Given the description of an element on the screen output the (x, y) to click on. 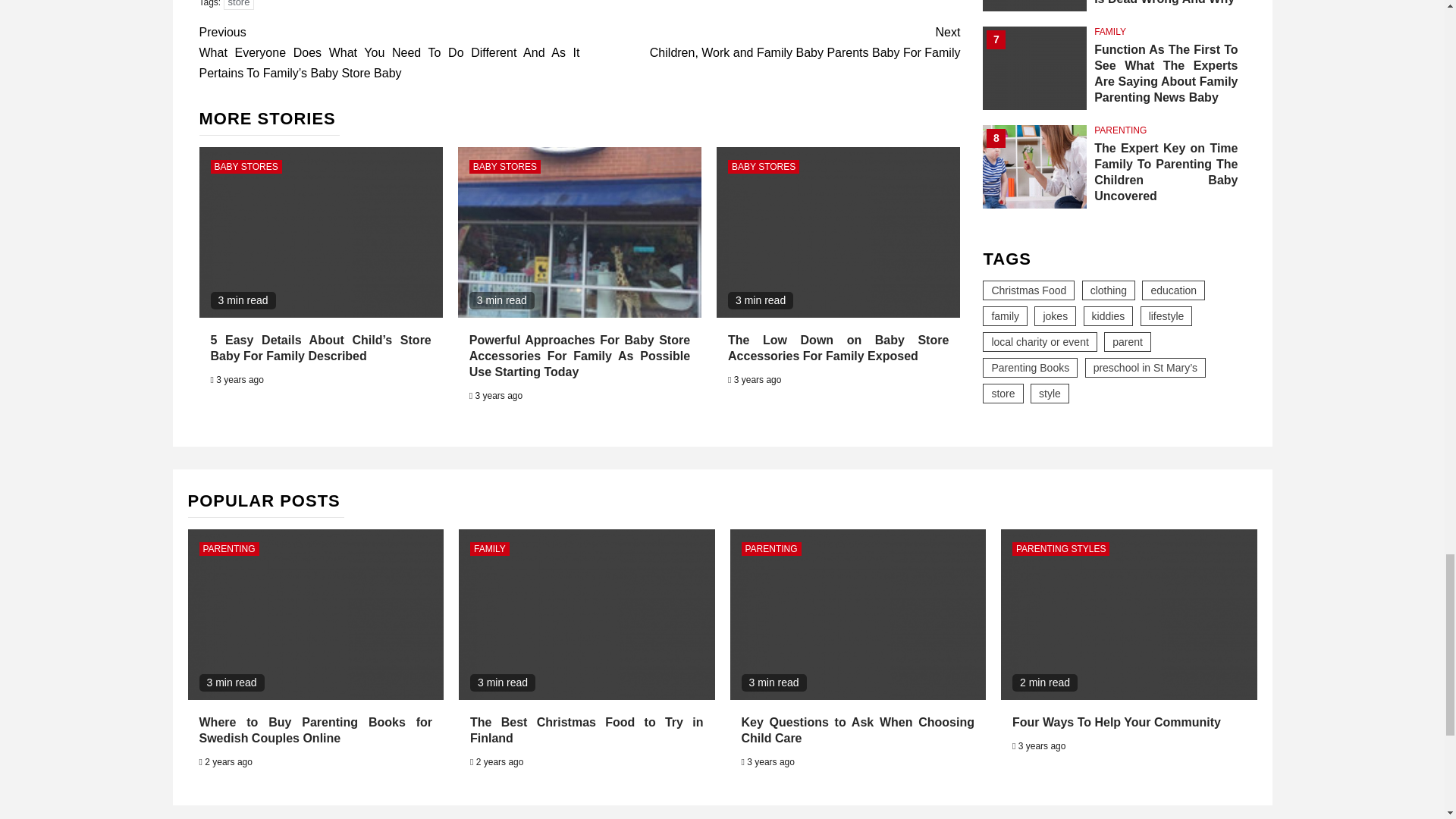
BABY STORES (504, 166)
The Low Down on Baby Store Accessories For Family Exposed 8 (837, 232)
The Low Down on Baby Store Accessories For Family Exposed (838, 347)
BABY STORES (763, 166)
BABY STORES (246, 166)
store (239, 4)
